Given the description of an element on the screen output the (x, y) to click on. 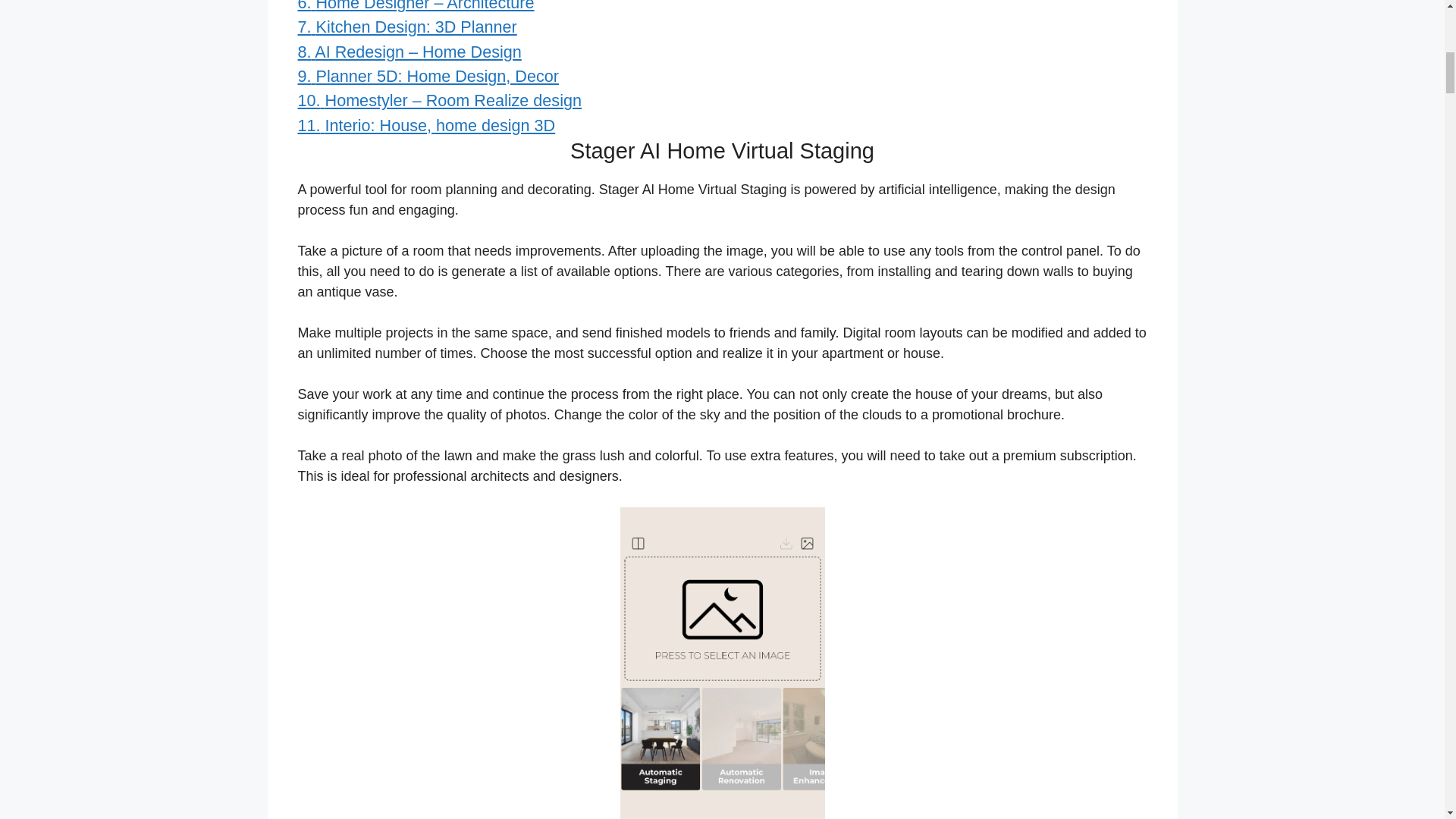
7. Kitchen Design: 3D Planner (406, 26)
11. Interio: House, home design 3D (425, 125)
Scroll back to top (1406, 720)
9. Planner 5D: Home Design, Decor (427, 75)
